Given the description of an element on the screen output the (x, y) to click on. 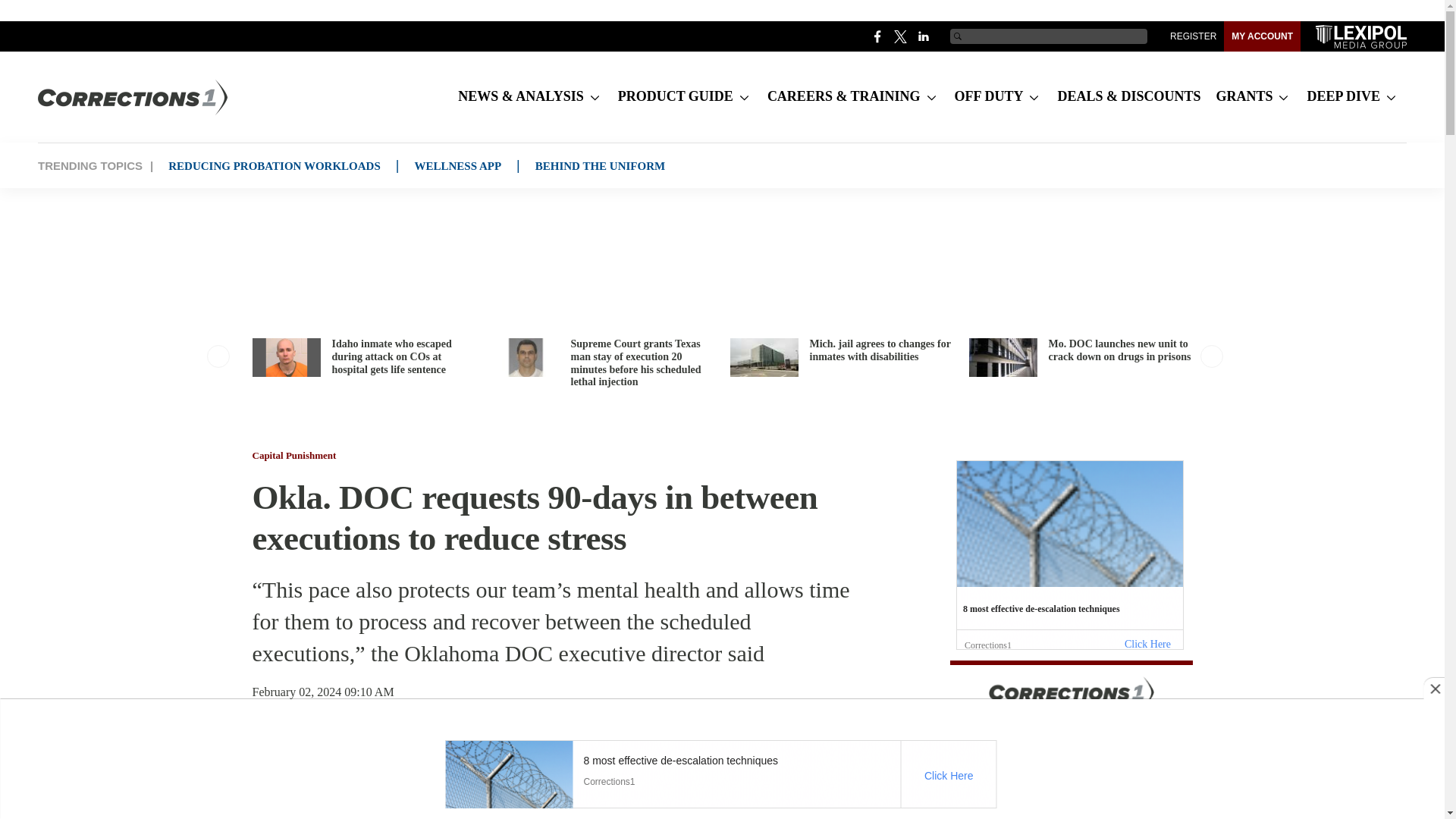
linkedin (923, 36)
3rd party ad content (1068, 555)
REGISTER (1192, 36)
facebook (877, 36)
3rd party ad content (719, 232)
piano-id-nb2Z0 (1070, 739)
MY ACCOUNT (1262, 36)
twitter (900, 36)
